Given the description of an element on the screen output the (x, y) to click on. 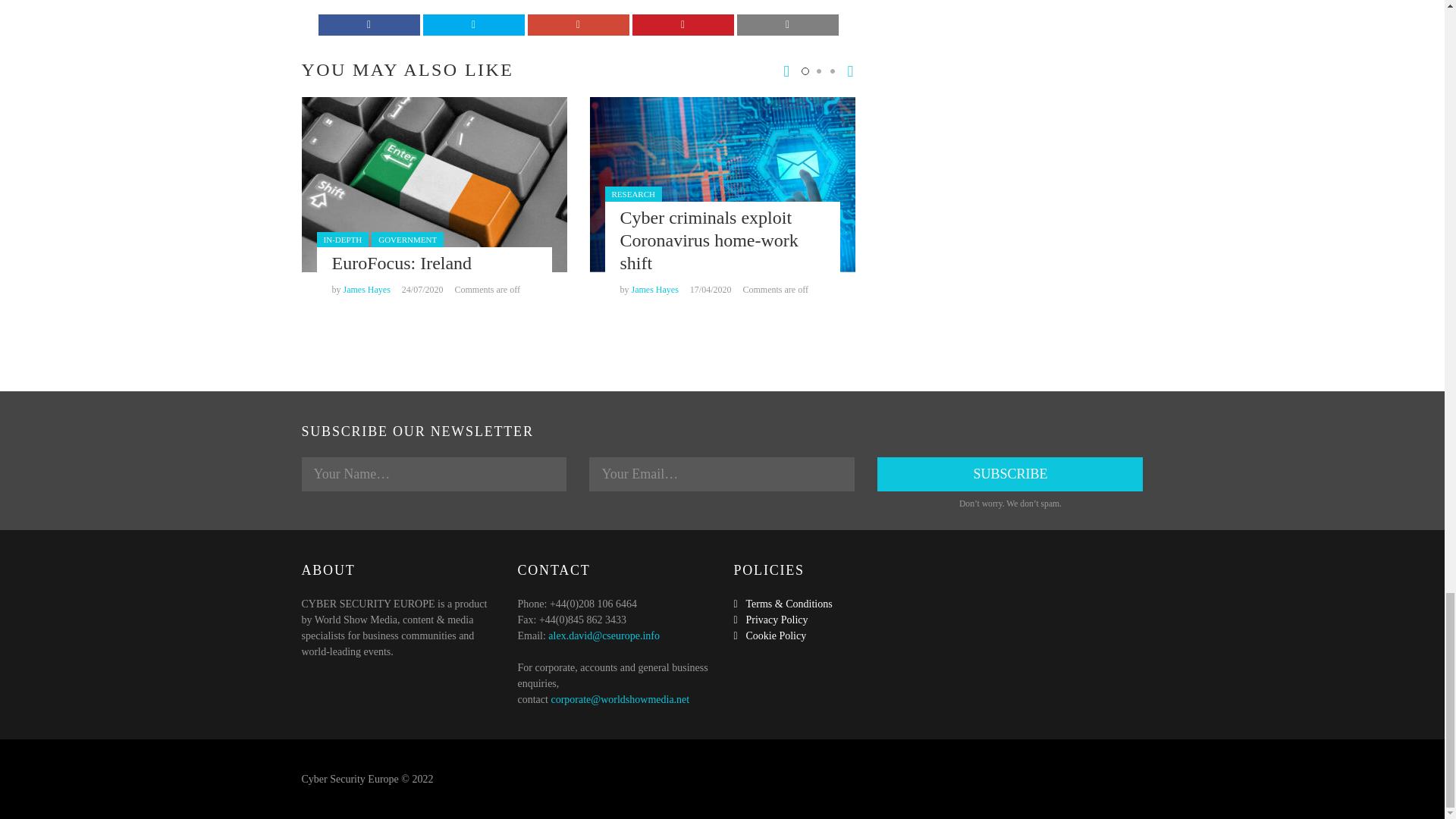
Posts by James Hayes (654, 289)
Subscribe (1009, 474)
EuroFocus: Ireland (401, 262)
Posts by James Hayes (366, 289)
Cyber criminals exploit Coronavirus home-work shift (708, 240)
